Given the description of an element on the screen output the (x, y) to click on. 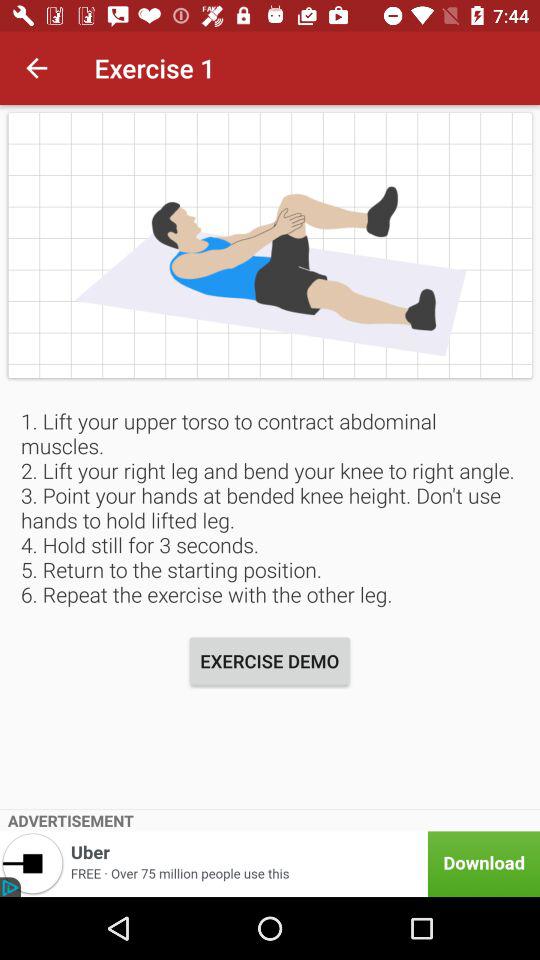
download free uber app (270, 864)
